Given the description of an element on the screen output the (x, y) to click on. 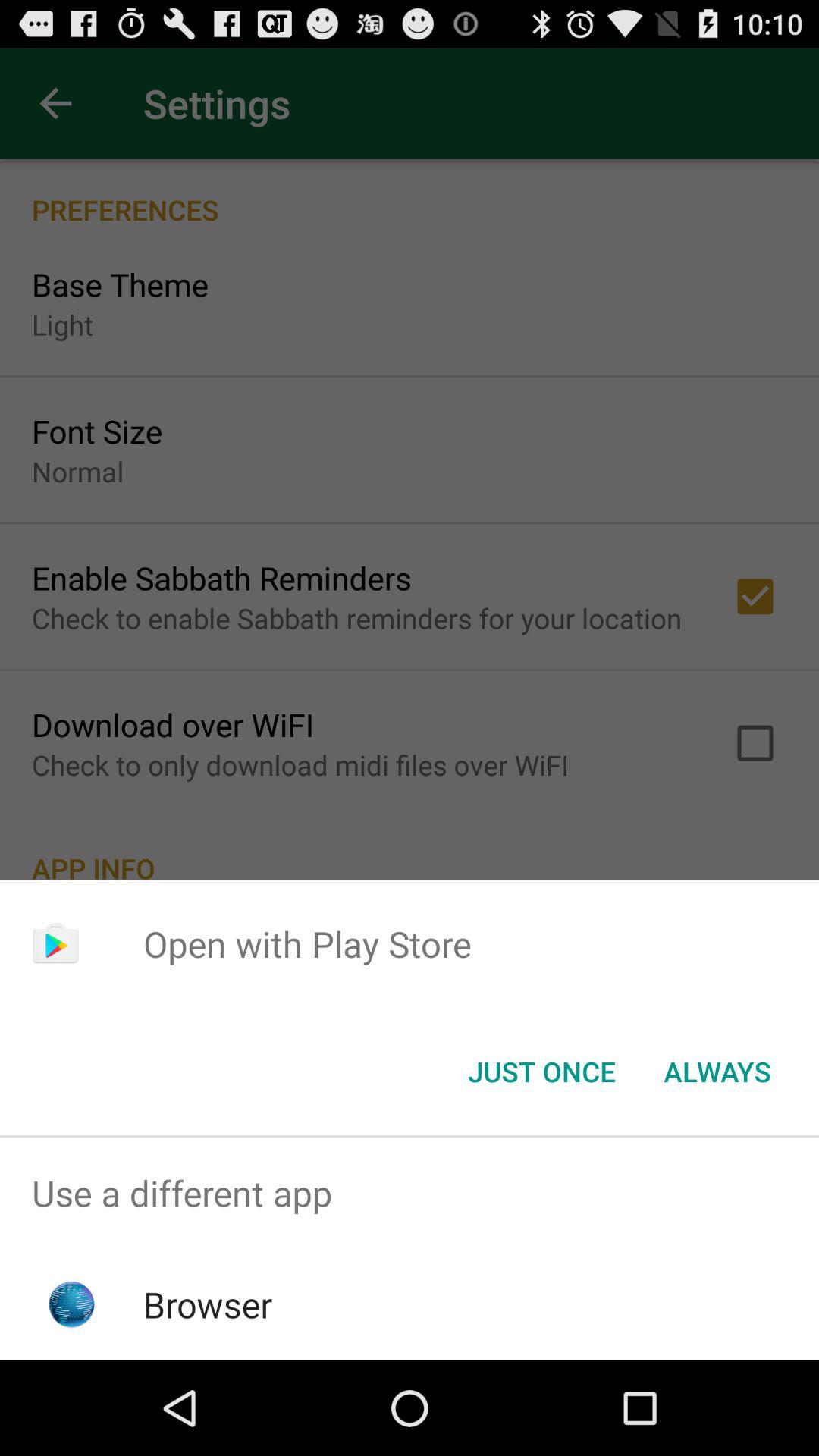
turn on the icon below the use a different icon (207, 1304)
